Given the description of an element on the screen output the (x, y) to click on. 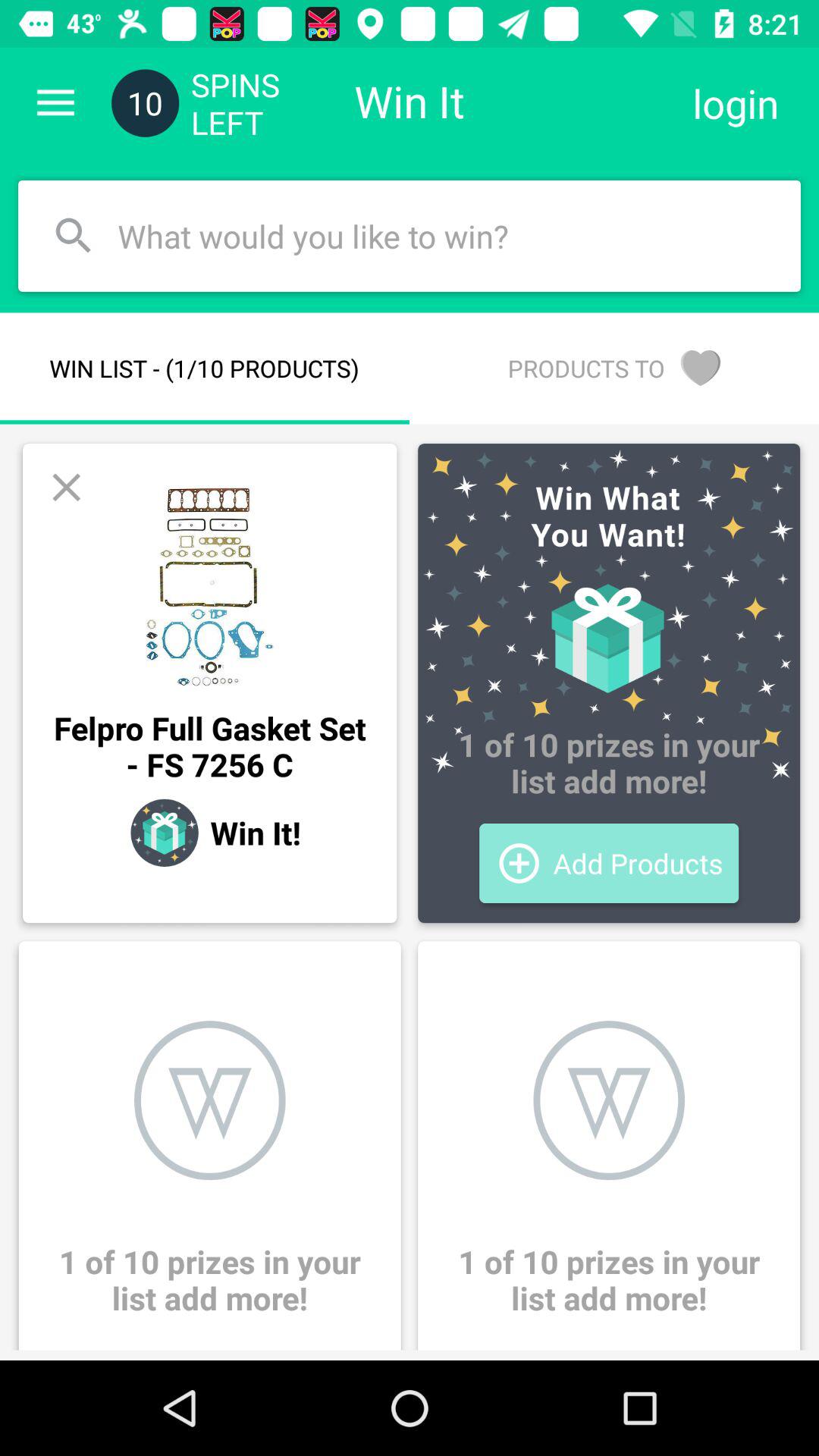
open login icon (735, 102)
